Given the description of an element on the screen output the (x, y) to click on. 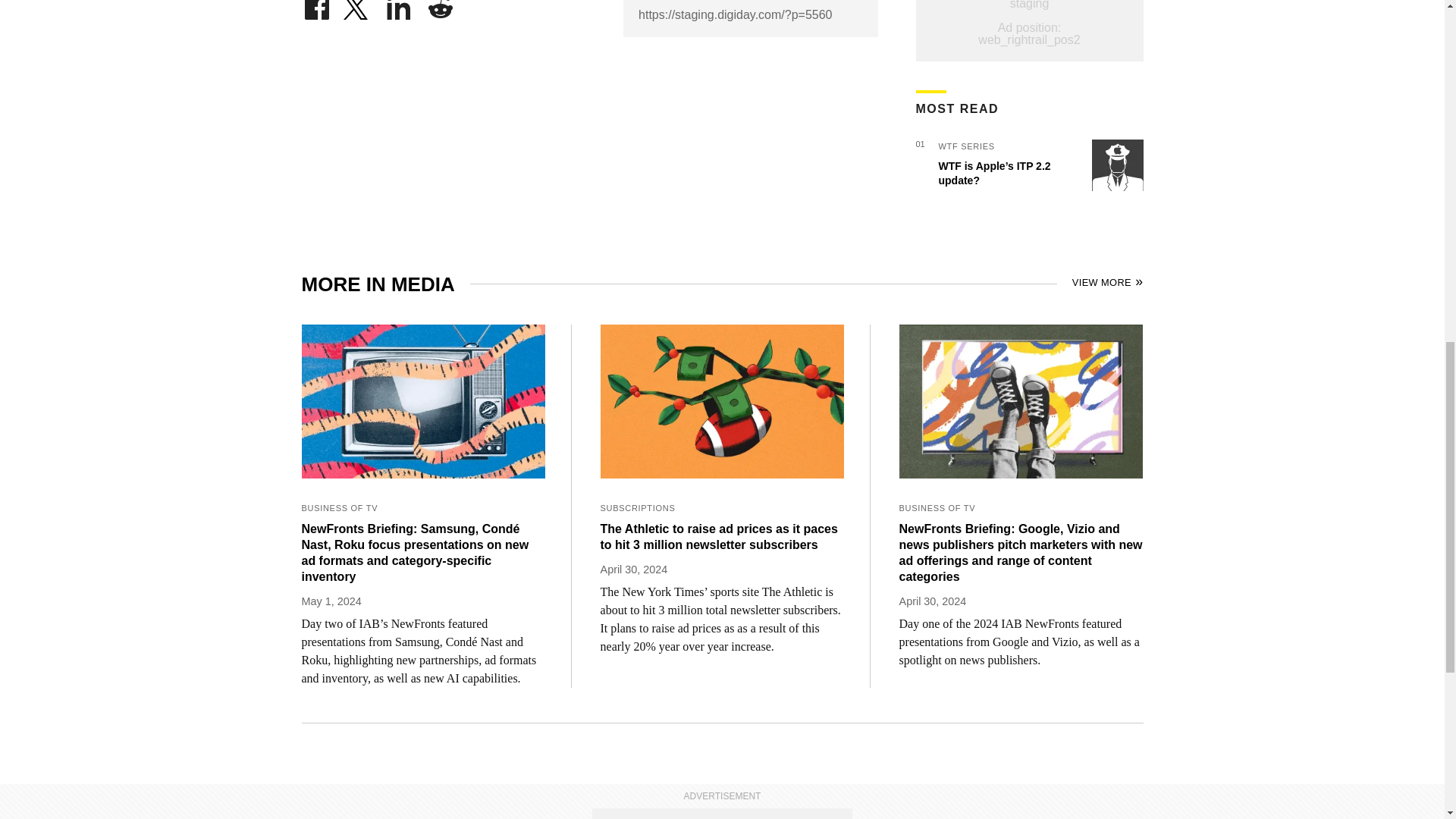
Share on LinkedIn (398, 5)
Share on Facebook (316, 5)
Share on Reddit (440, 5)
Share on Twitter (357, 5)
